Given the description of an element on the screen output the (x, y) to click on. 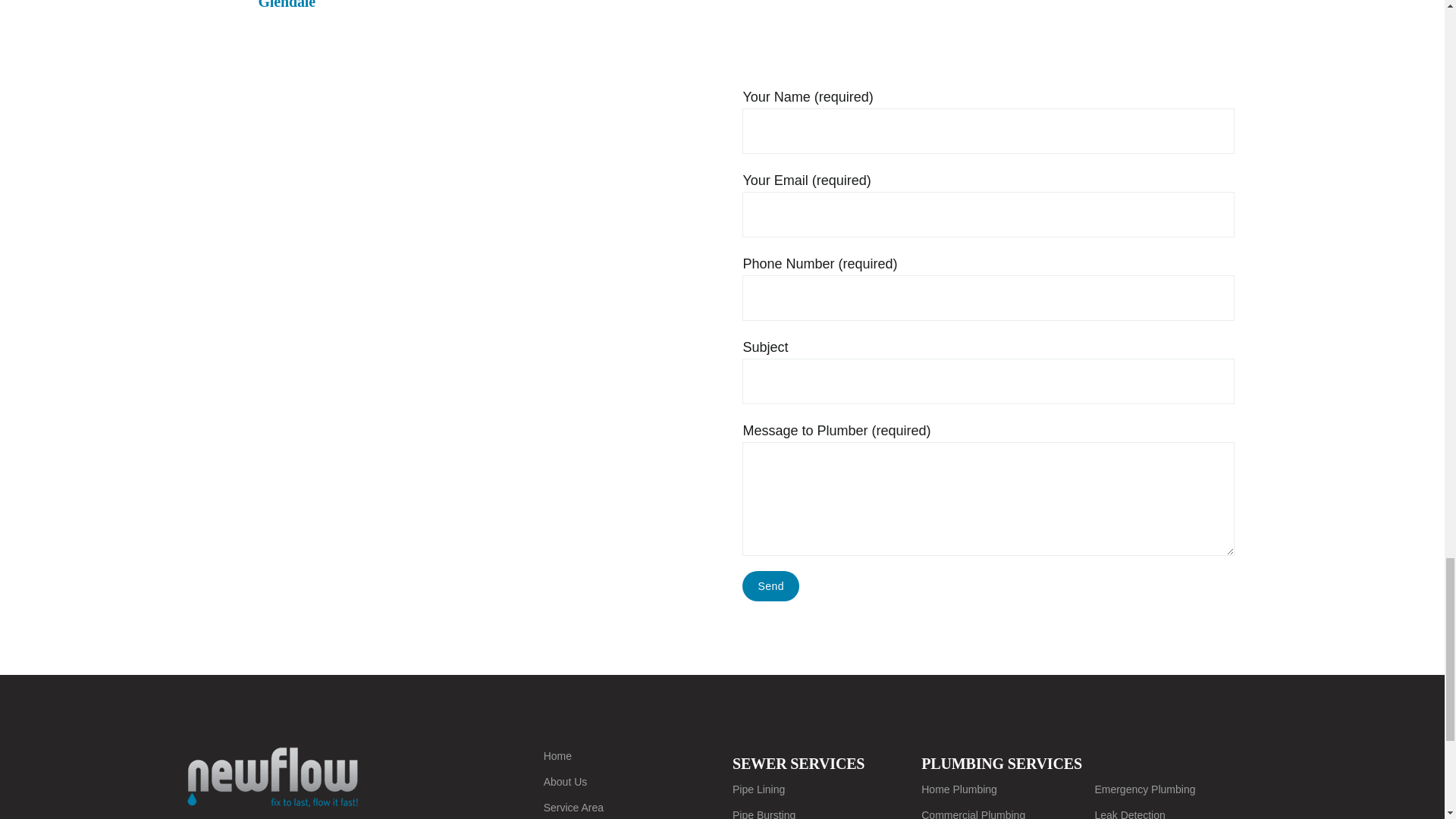
Send (770, 585)
About Us (616, 782)
Home (616, 755)
Service Area (616, 807)
Glendale (722, 42)
Glendale (721, 13)
Send (770, 585)
